Given the description of an element on the screen output the (x, y) to click on. 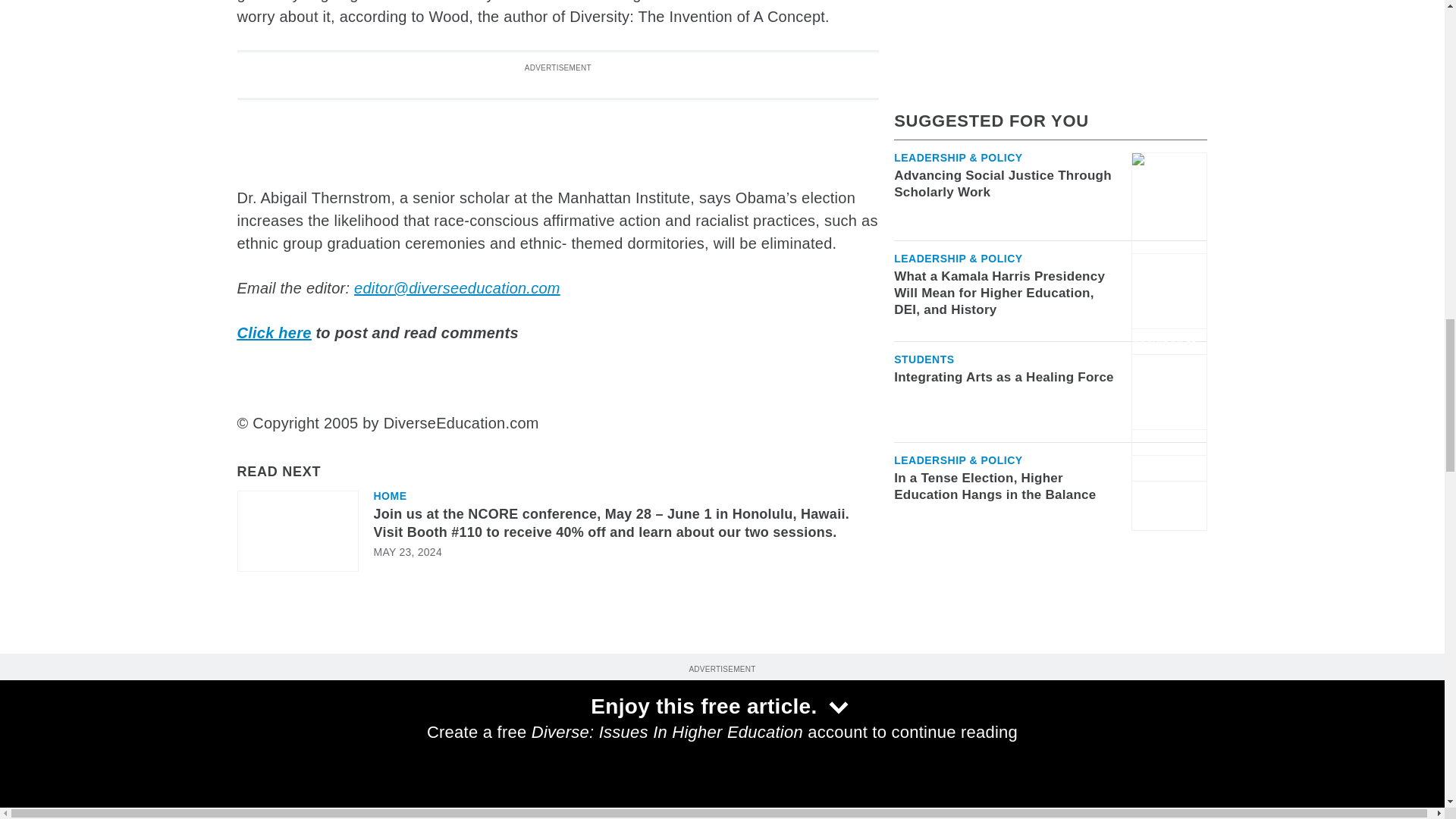
Home (389, 495)
